Given the description of an element on the screen output the (x, y) to click on. 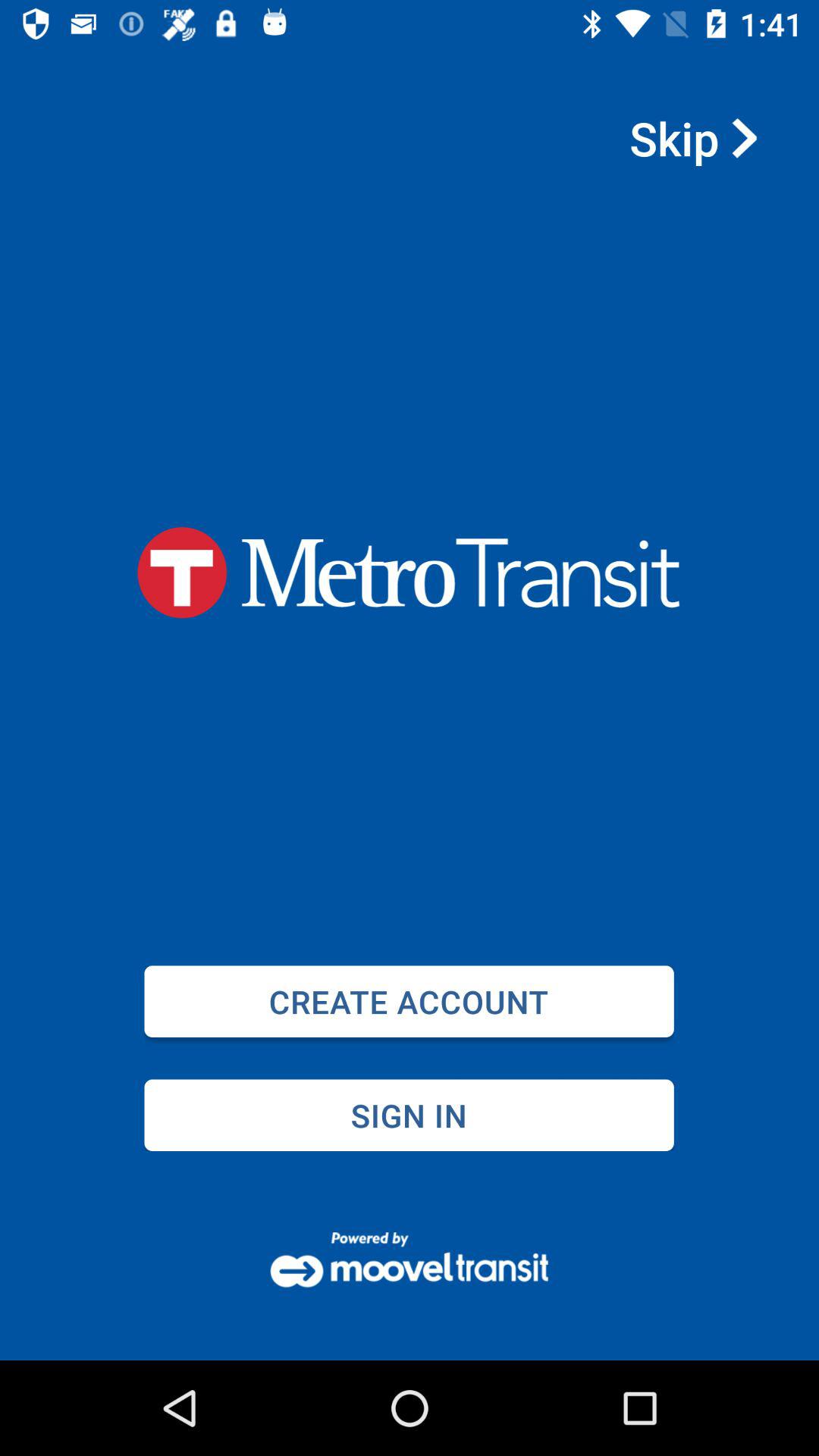
scroll until create account icon (408, 1001)
